Given the description of an element on the screen output the (x, y) to click on. 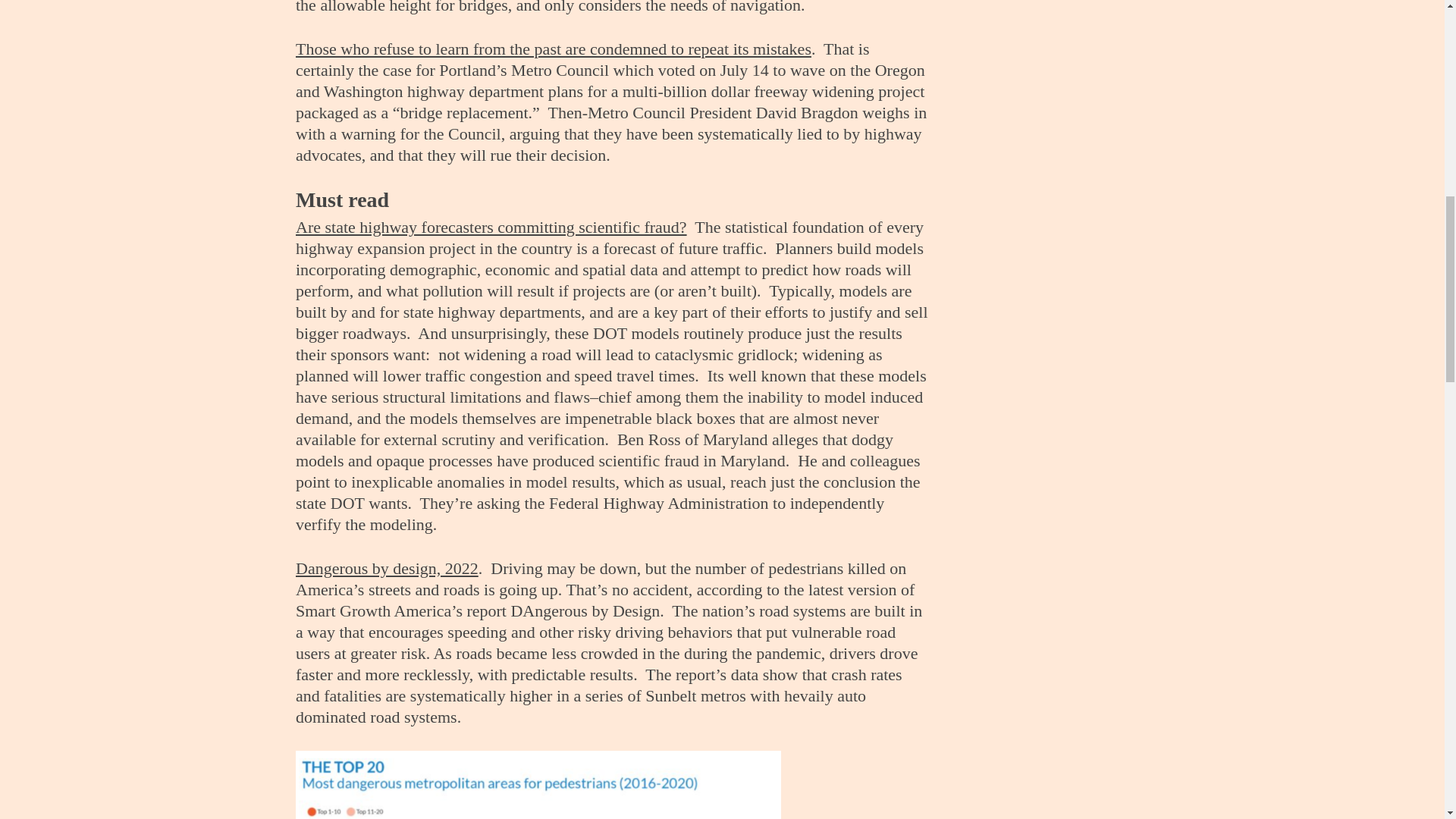
Dangerous by design, 2022 (387, 568)
Are state highway forecasters committing scientific fraud? (491, 226)
